Given the description of an element on the screen output the (x, y) to click on. 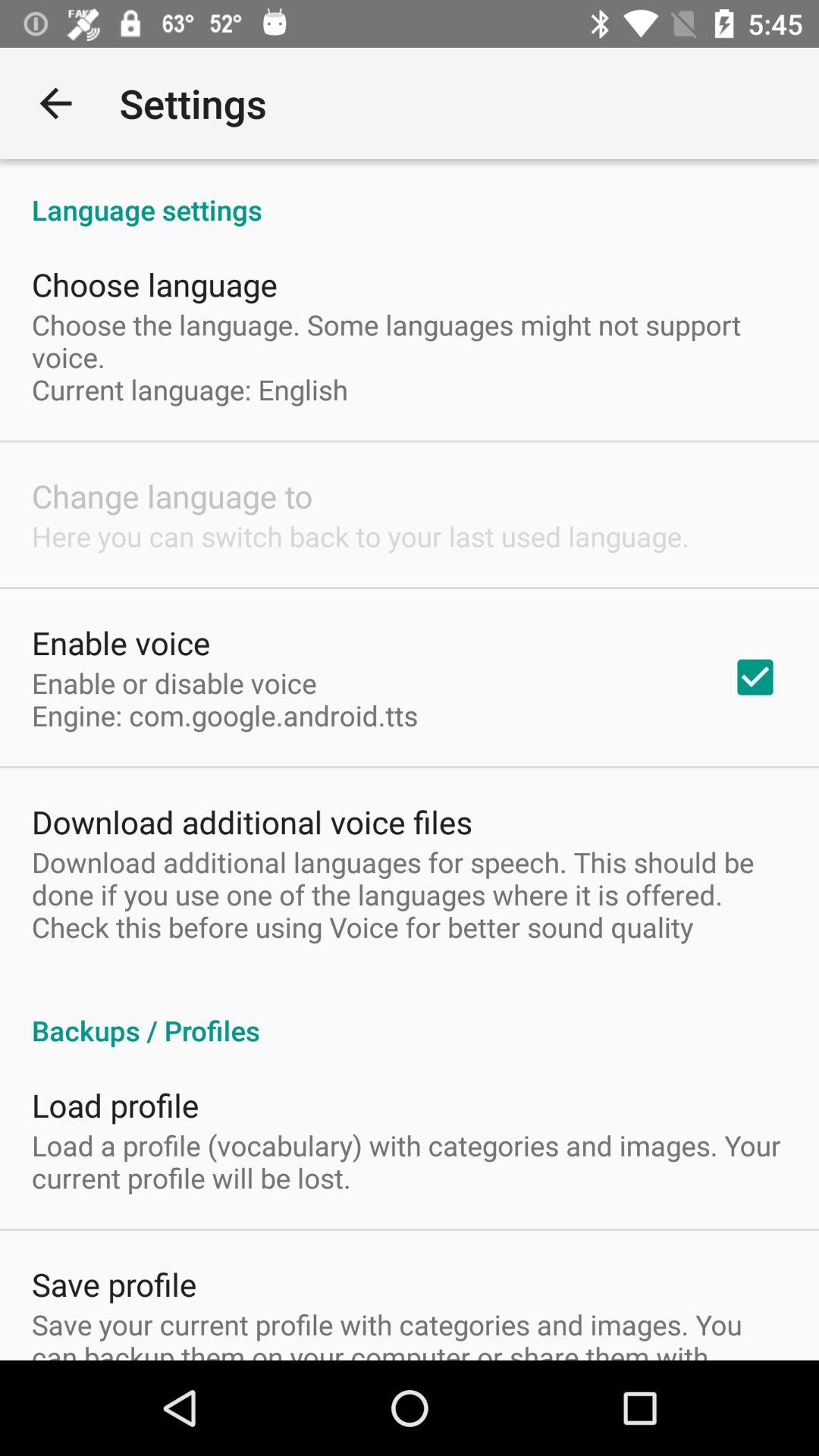
choose checkbox on the right (755, 677)
